Given the description of an element on the screen output the (x, y) to click on. 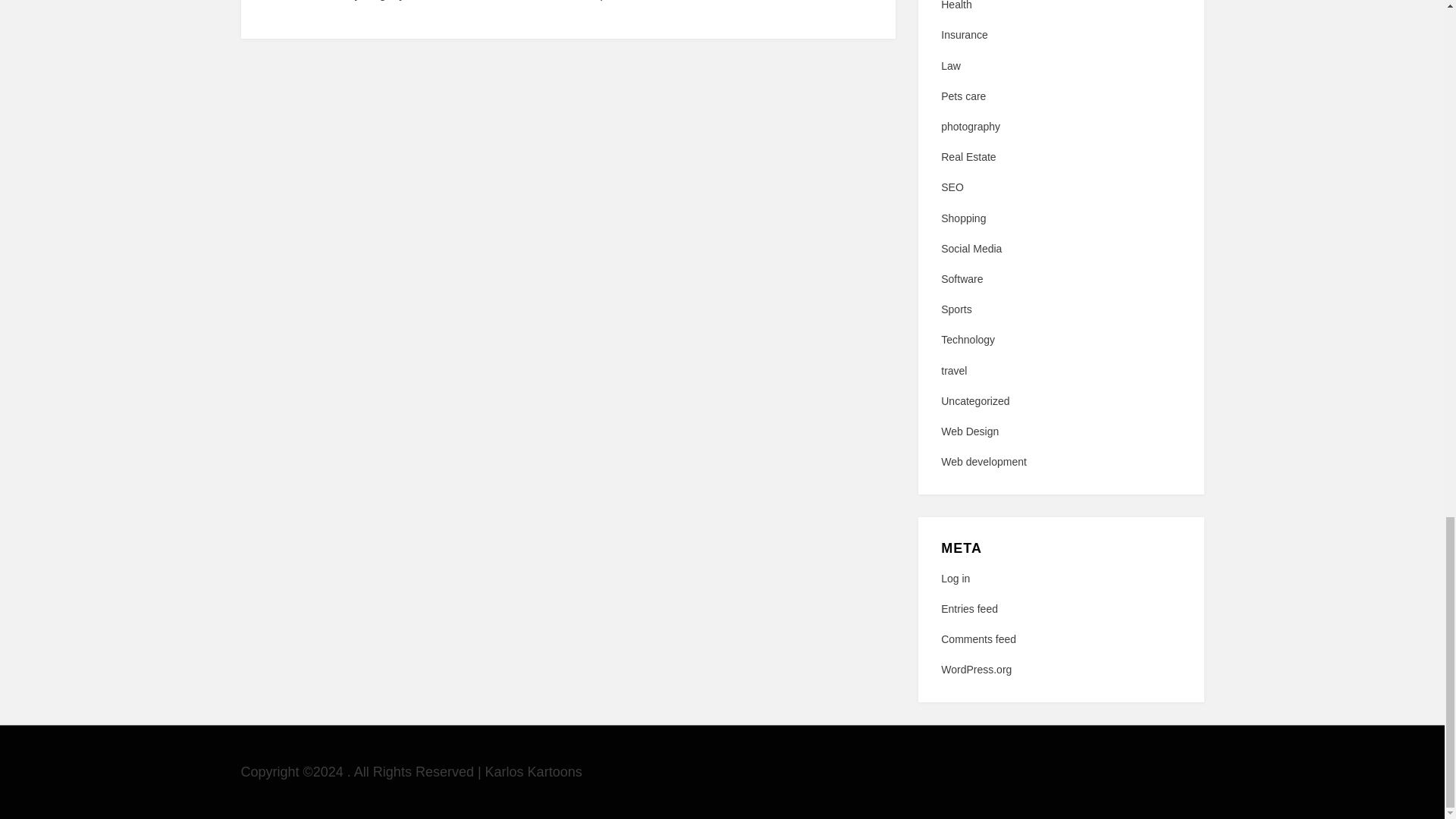
Pets care (1060, 96)
Health (1060, 7)
Insurance (1060, 35)
photography (1060, 126)
Law (1060, 66)
